Given the description of an element on the screen output the (x, y) to click on. 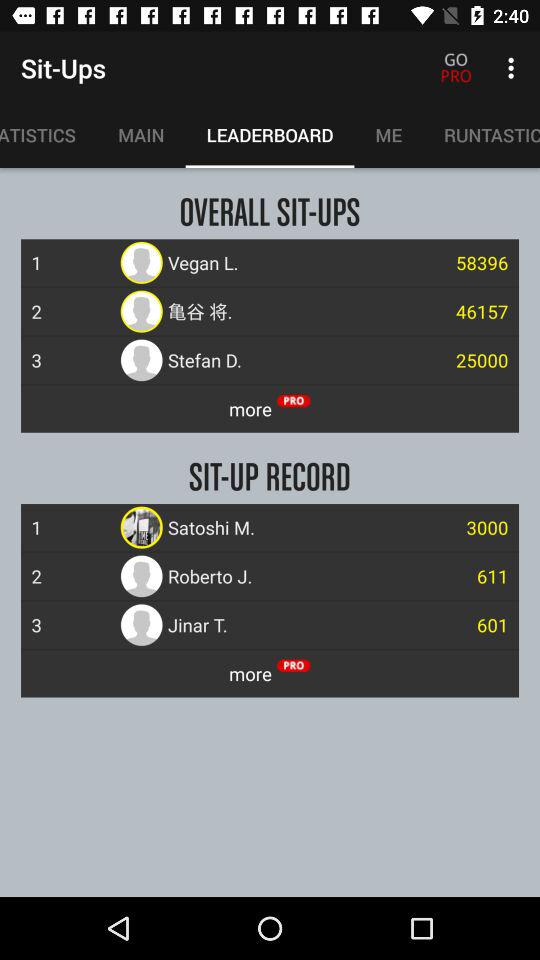
click item above the 1 item (48, 135)
